Given the description of an element on the screen output the (x, y) to click on. 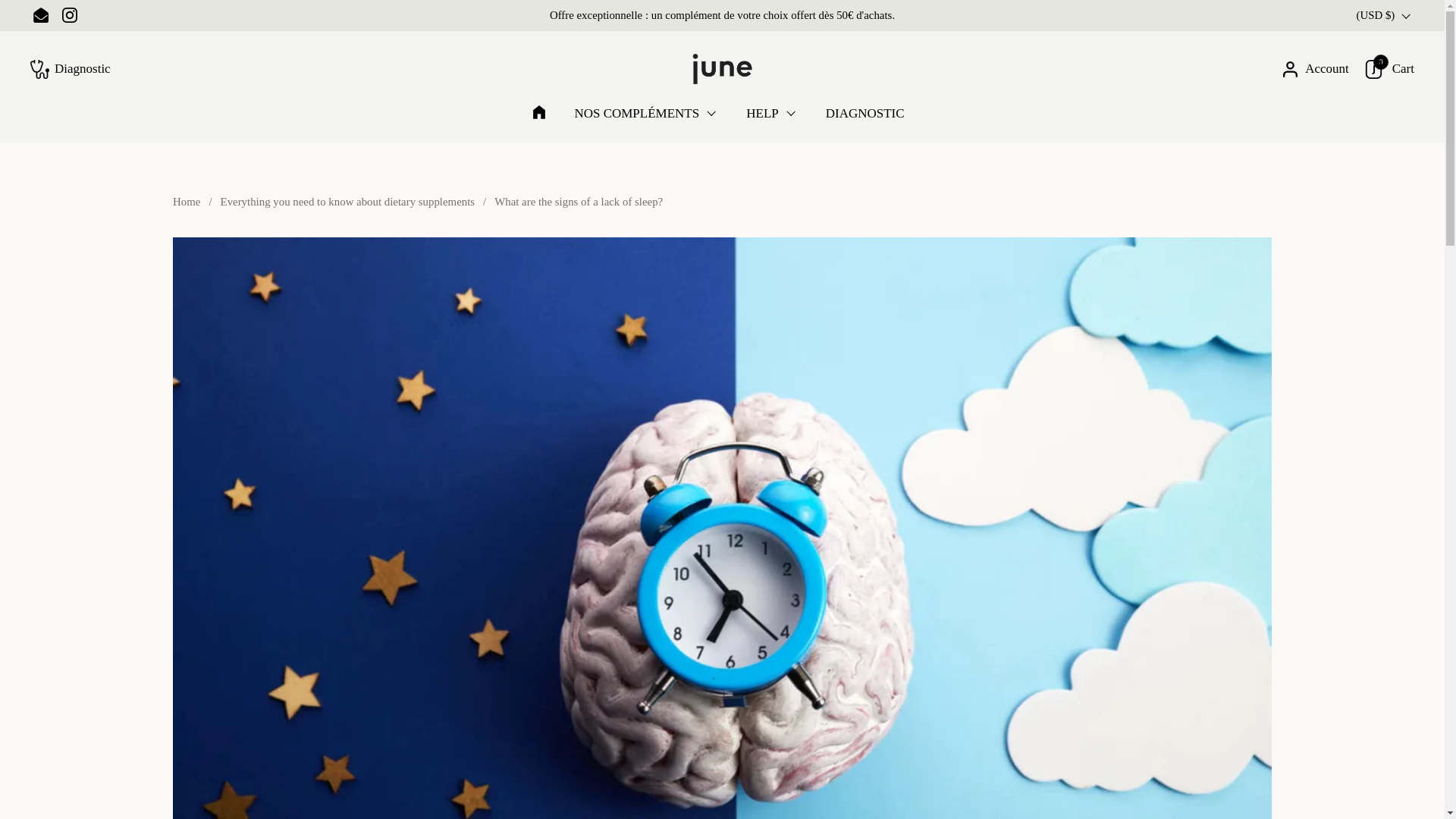
Diagnostic (70, 67)
Instagram (69, 14)
Account (1315, 67)
Email (40, 14)
June Laboratoire (722, 69)
Open cart (1388, 67)
Diagnostic (70, 67)
